Given the description of an element on the screen output the (x, y) to click on. 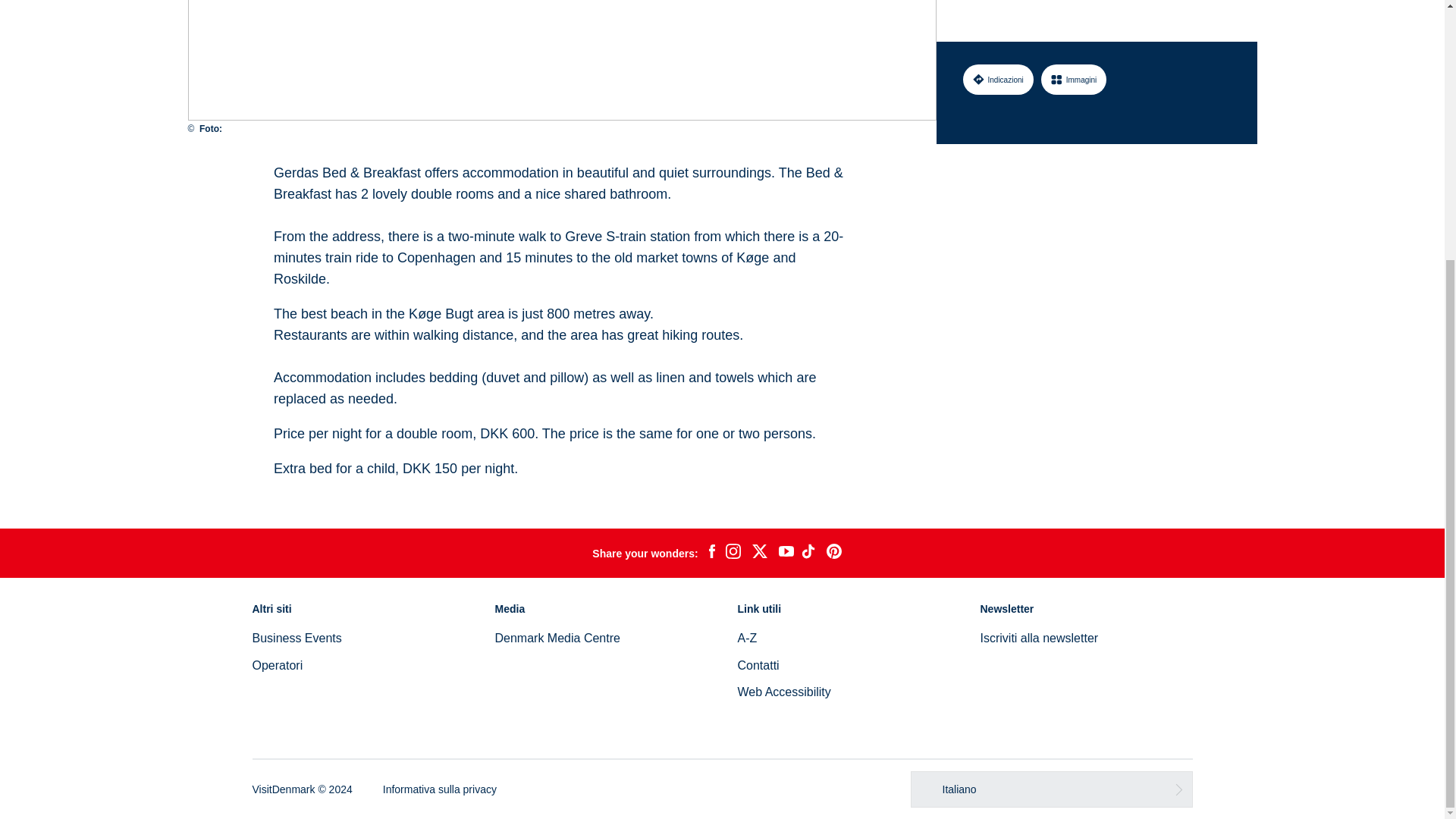
Iscriviti alla newsletter (1038, 637)
pinterest (834, 553)
Web Accessibility (782, 691)
facebook (711, 553)
A-Z (746, 637)
Business Events (295, 637)
twitter (759, 553)
Informativa sulla privacy (439, 789)
youtube (786, 553)
instagram (732, 553)
Denmark Media Centre (557, 637)
Web Accessibility (782, 691)
Operatori (276, 665)
tiktok (810, 553)
Operatori (276, 665)
